Given the description of an element on the screen output the (x, y) to click on. 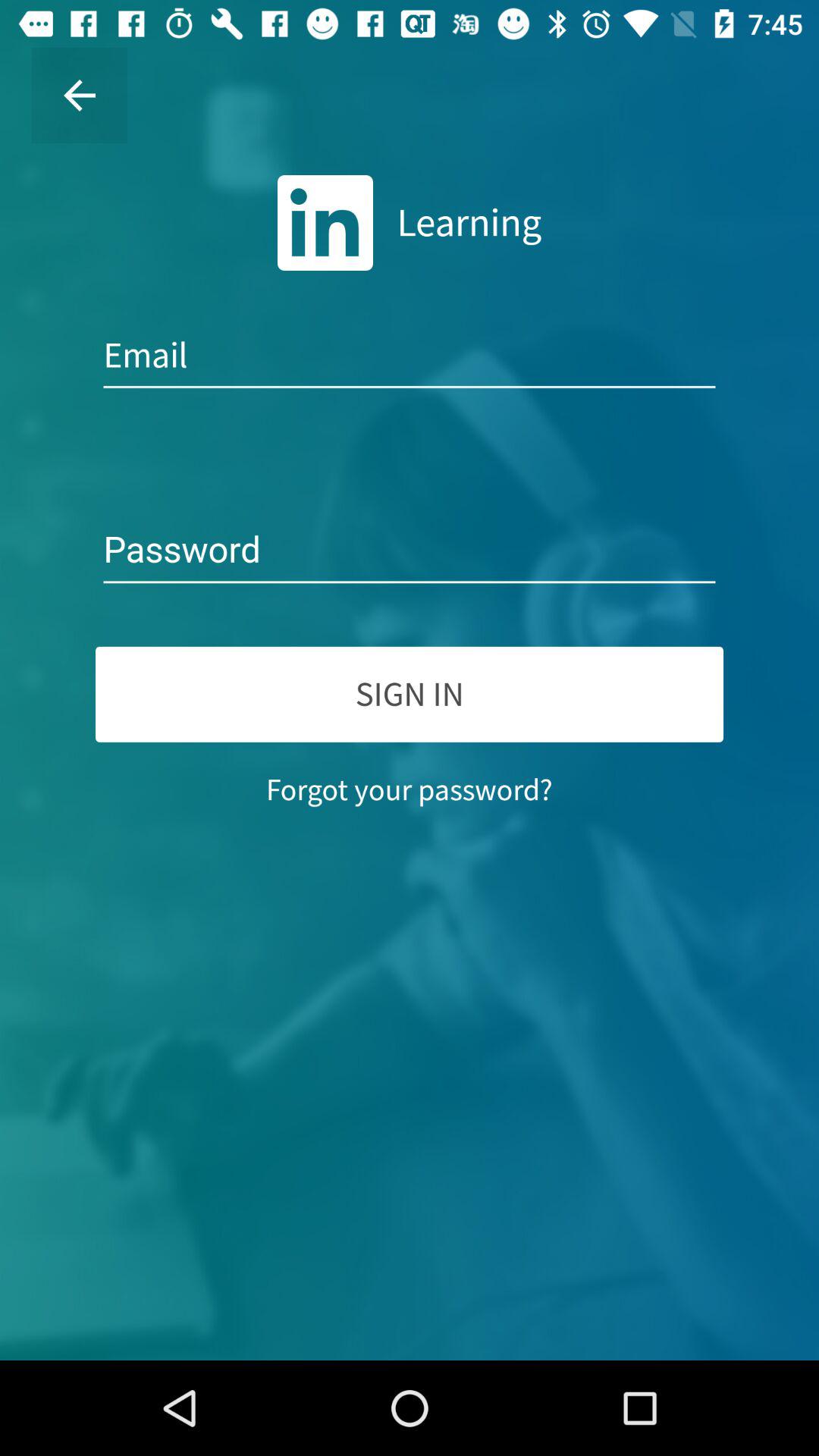
enter email address (409, 355)
